Given the description of an element on the screen output the (x, y) to click on. 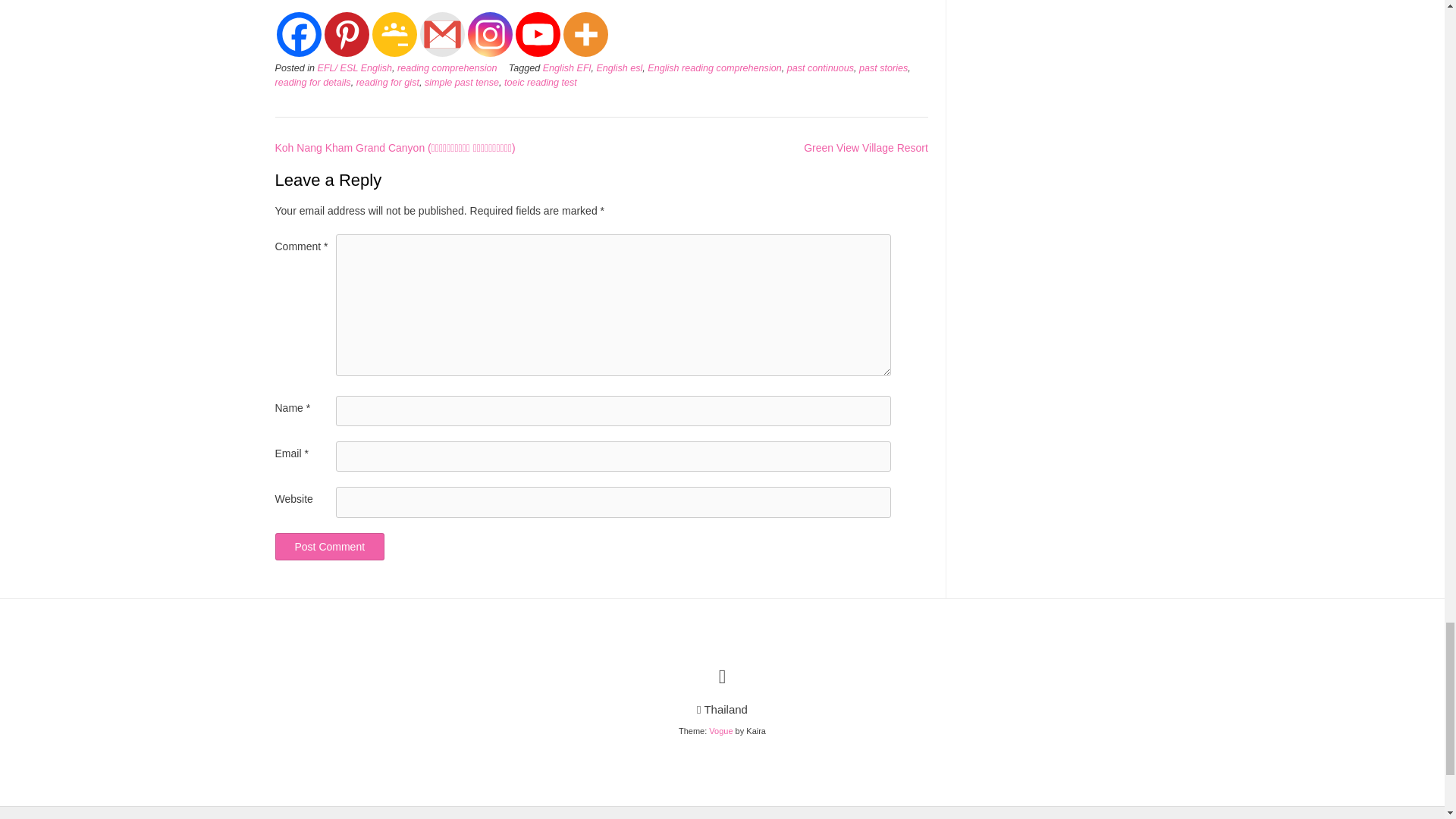
Post Comment (329, 546)
English EFl (567, 68)
English esl (618, 68)
reading comprehension (447, 68)
